Given the description of an element on the screen output the (x, y) to click on. 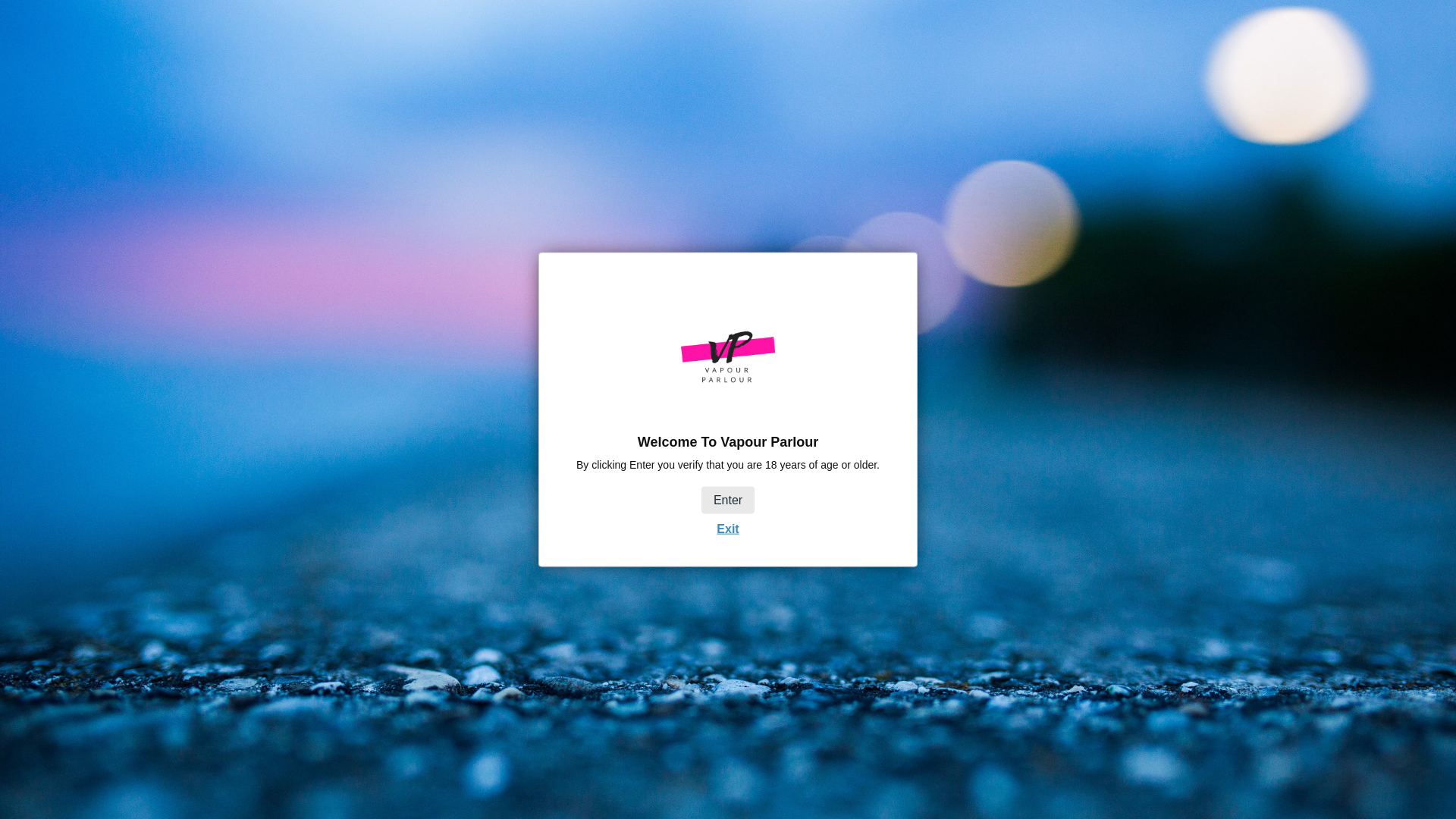
Enter (727, 499)
Exit (727, 527)
Create an Account (1066, 125)
Back to the frontpage (364, 394)
Search (1015, 163)
Sign in (991, 125)
CART (1076, 162)
